Given the description of an element on the screen output the (x, y) to click on. 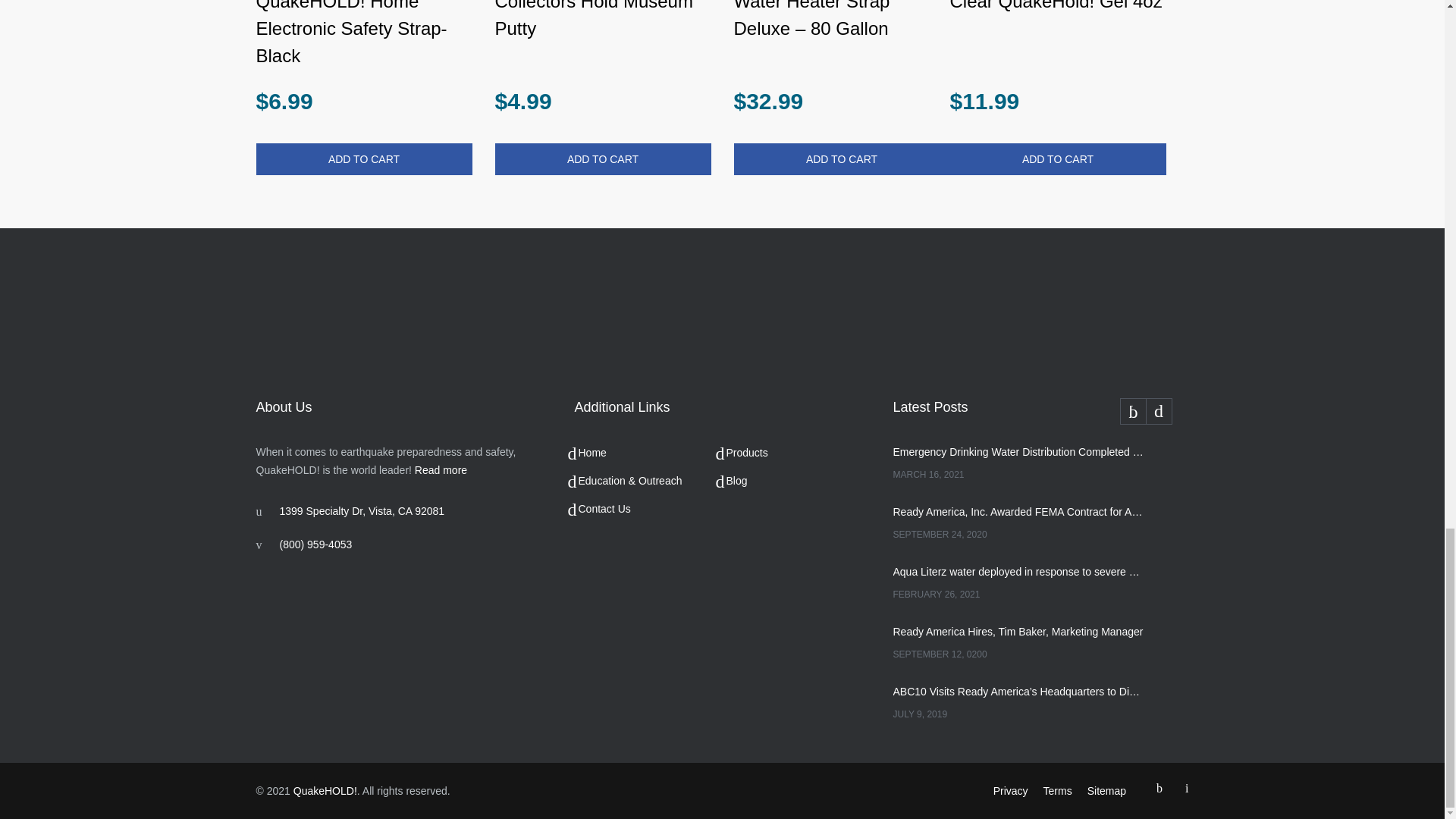
September 12, 0200 (1018, 654)
February 26, 2021 (1018, 594)
Latest Posts (1041, 410)
Ready America Hires, Tim Baker, Marketing Manager (1018, 631)
March 16, 2021 (1018, 474)
September 24, 2020 (1018, 534)
Emergency Drinking Water Distribution Completed in Texas (1018, 452)
